Given the description of an element on the screen output the (x, y) to click on. 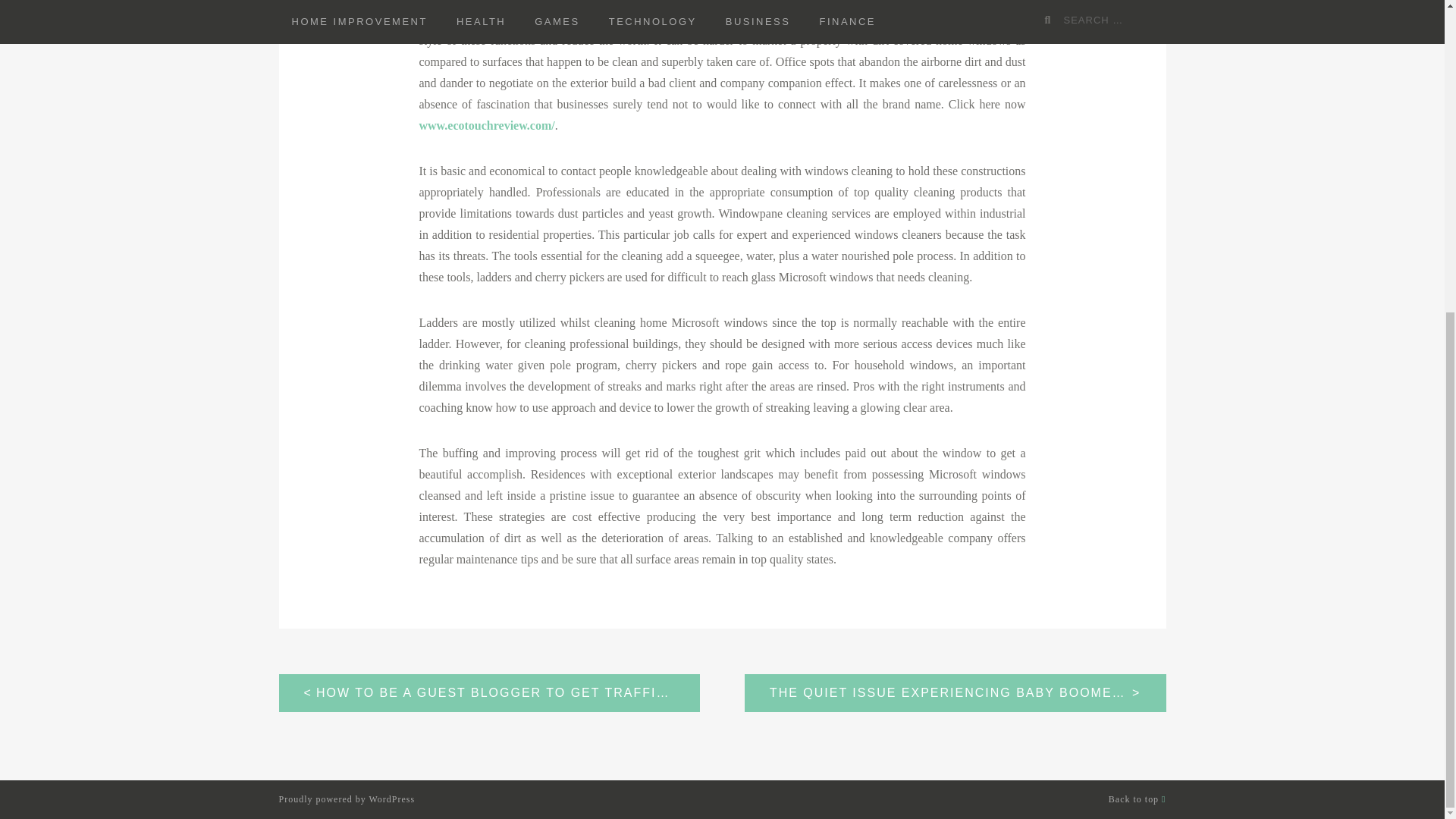
THE QUIET ISSUE EXPERIENCING BABY BOOMERS (955, 692)
HOW TO BE A GUEST BLOGGER TO GET TRAFFIC IN EDUCATION NICHE? (489, 692)
Back to top (1137, 798)
